Given the description of an element on the screen output the (x, y) to click on. 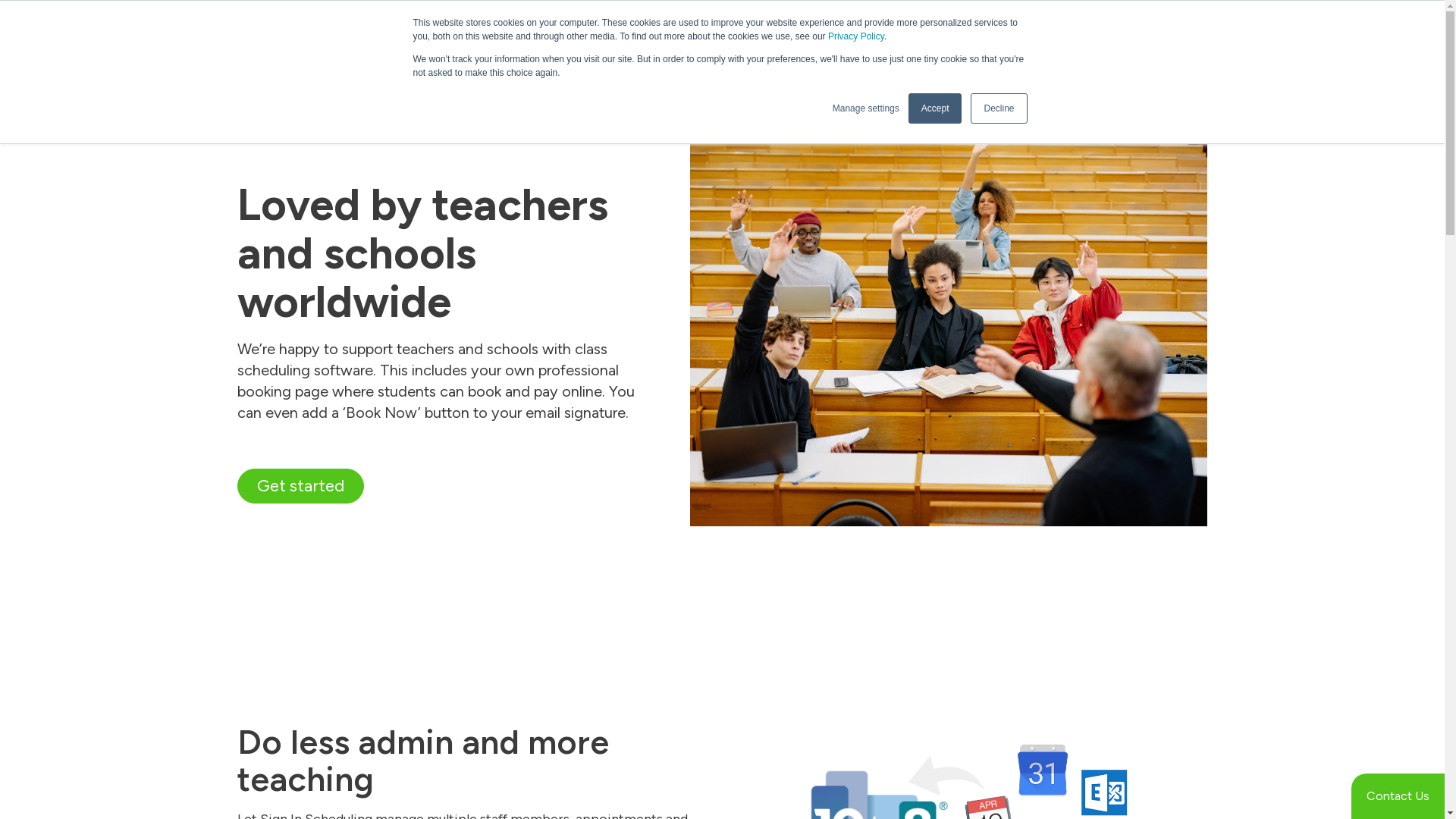
Pricing Element type: text (976, 75)
Privacy Policy Element type: text (856, 36)
Decline Element type: text (998, 108)
Get started Element type: text (299, 486)
Accept Element type: text (935, 108)
Free trial Element type: text (1161, 65)
Book a call Element type: text (1059, 66)
Save your seat Element type: text (1007, 17)
Login Element type: text (1184, 29)
Solutions Element type: text (745, 75)
Resources Element type: text (899, 75)
Manage settings Element type: text (865, 108)
Product Element type: text (821, 75)
